Given the description of an element on the screen output the (x, y) to click on. 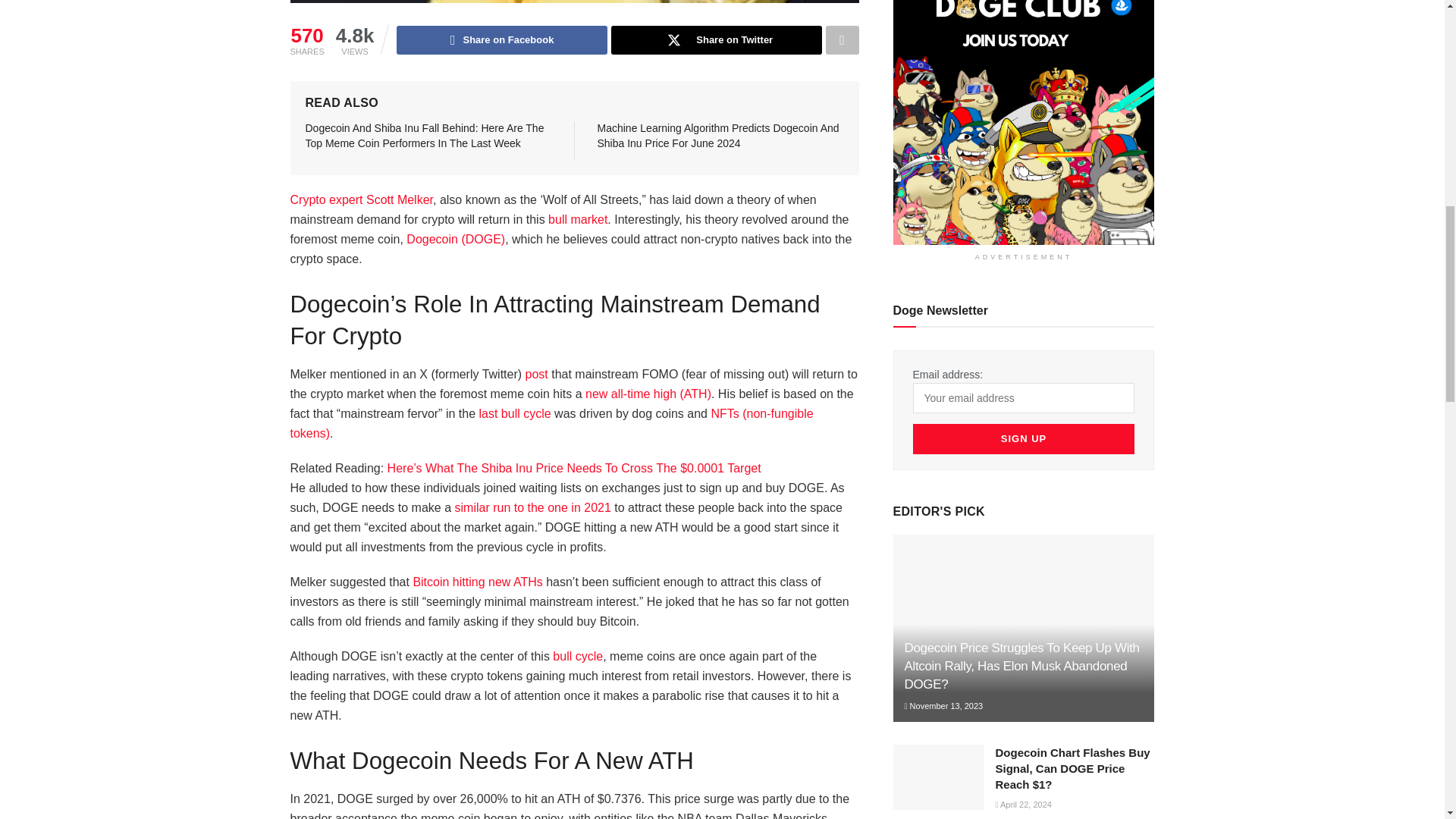
Sign up (1023, 439)
